Given the description of an element on the screen output the (x, y) to click on. 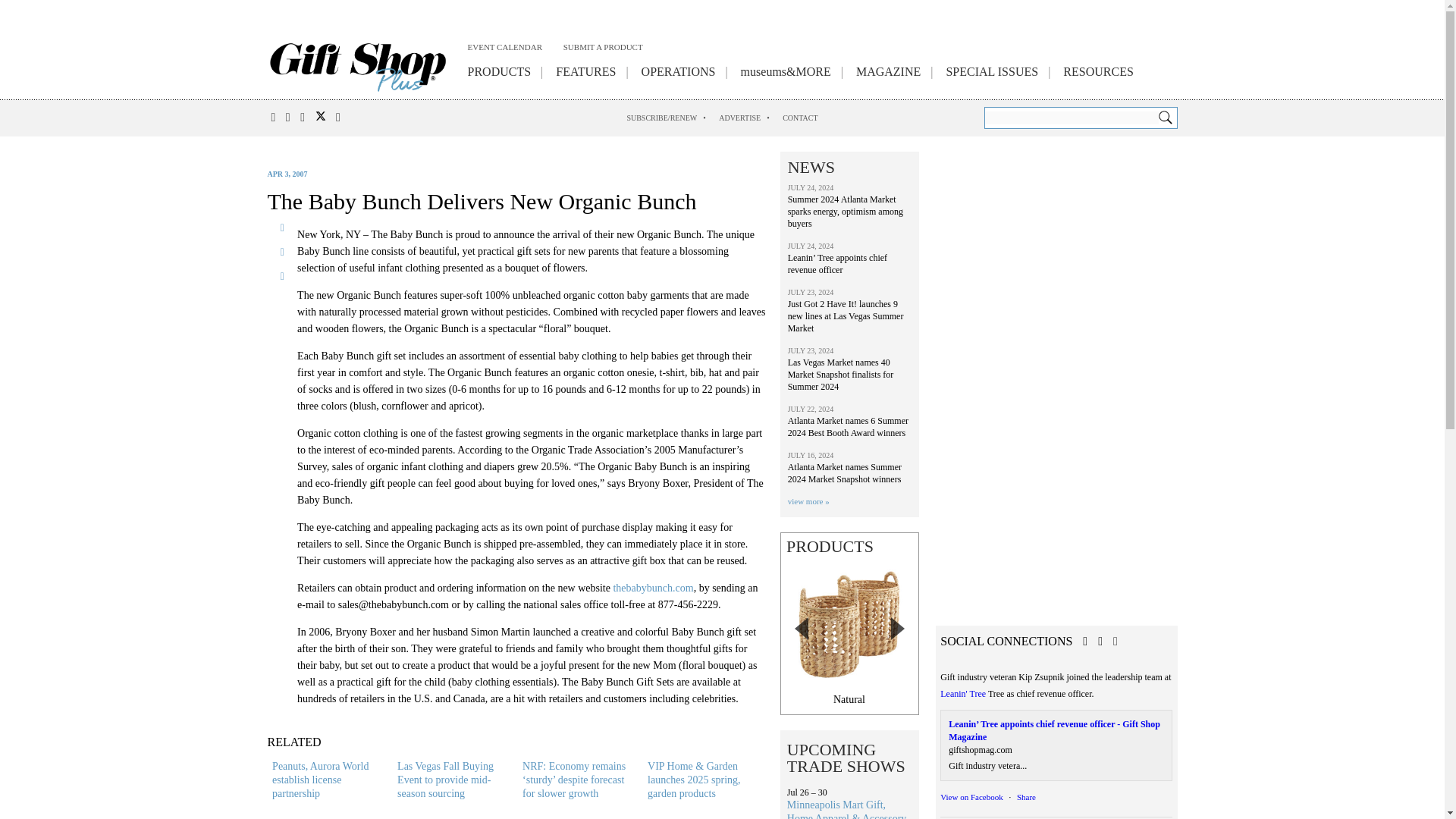
Share (1025, 796)
SUBMIT A PRODUCT (603, 49)
EVENT CALENDAR (504, 49)
View on Facebook (971, 796)
PRODUCTS (499, 74)
